Given the description of an element on the screen output the (x, y) to click on. 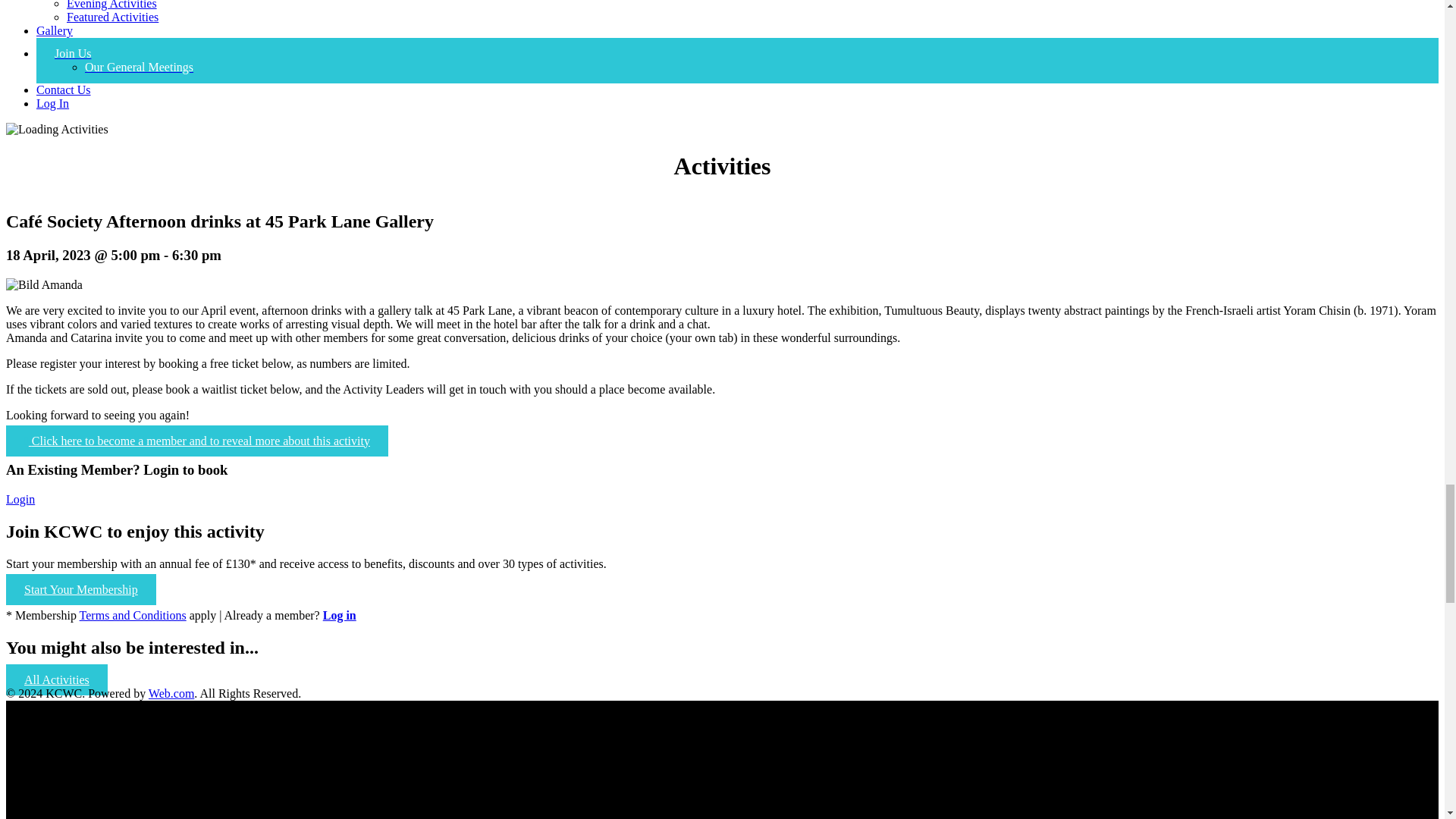
Terms and Conditions (133, 615)
Join Us (72, 52)
Start Your Membership (80, 589)
Contact Us (63, 89)
Login (19, 499)
Featured Activities (112, 16)
Bild Amanda (43, 284)
Log In (52, 103)
Evening Activities (111, 4)
